Given the description of an element on the screen output the (x, y) to click on. 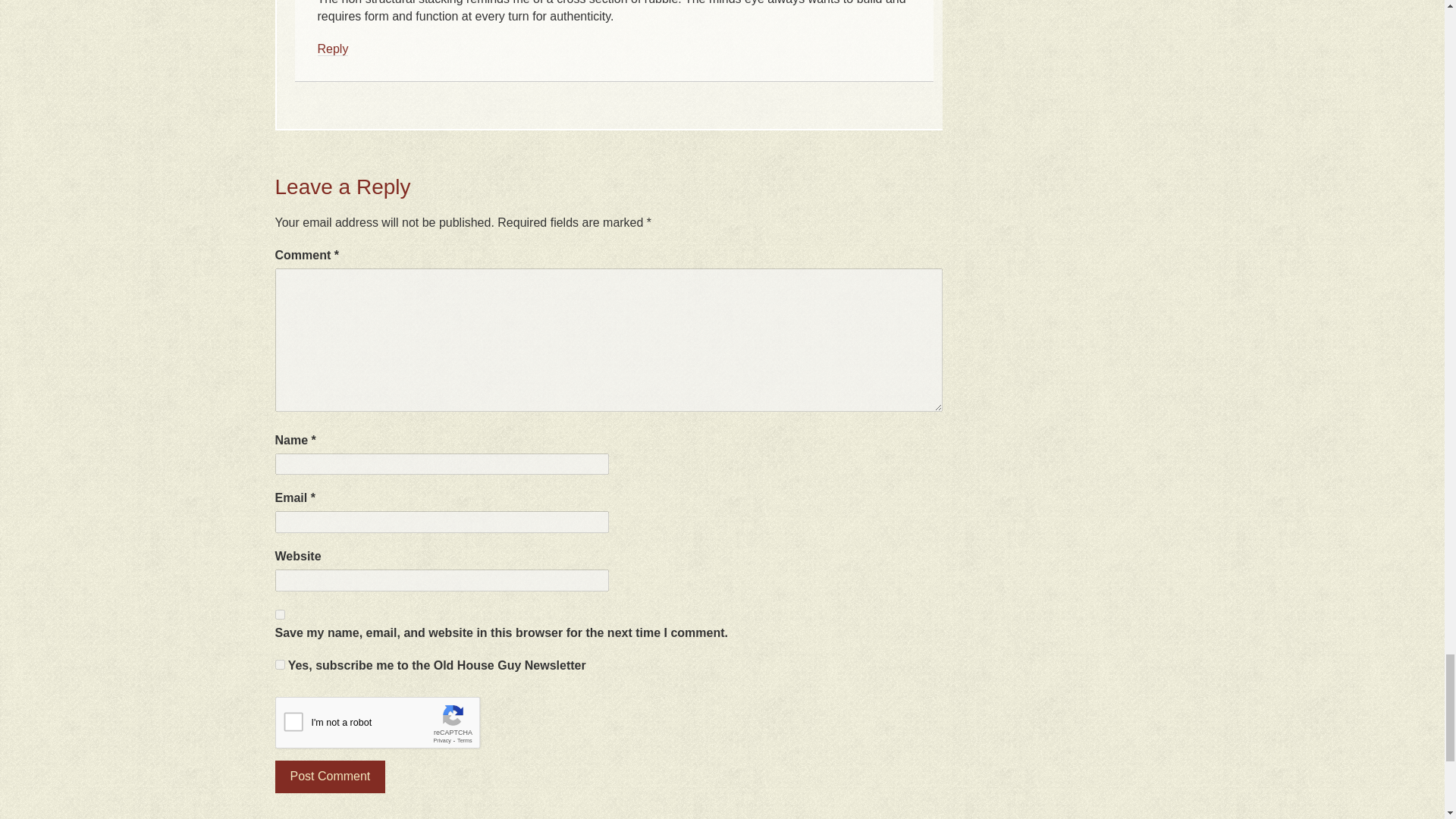
1 (279, 664)
Post Comment (330, 776)
yes (279, 614)
